Given the description of an element on the screen output the (x, y) to click on. 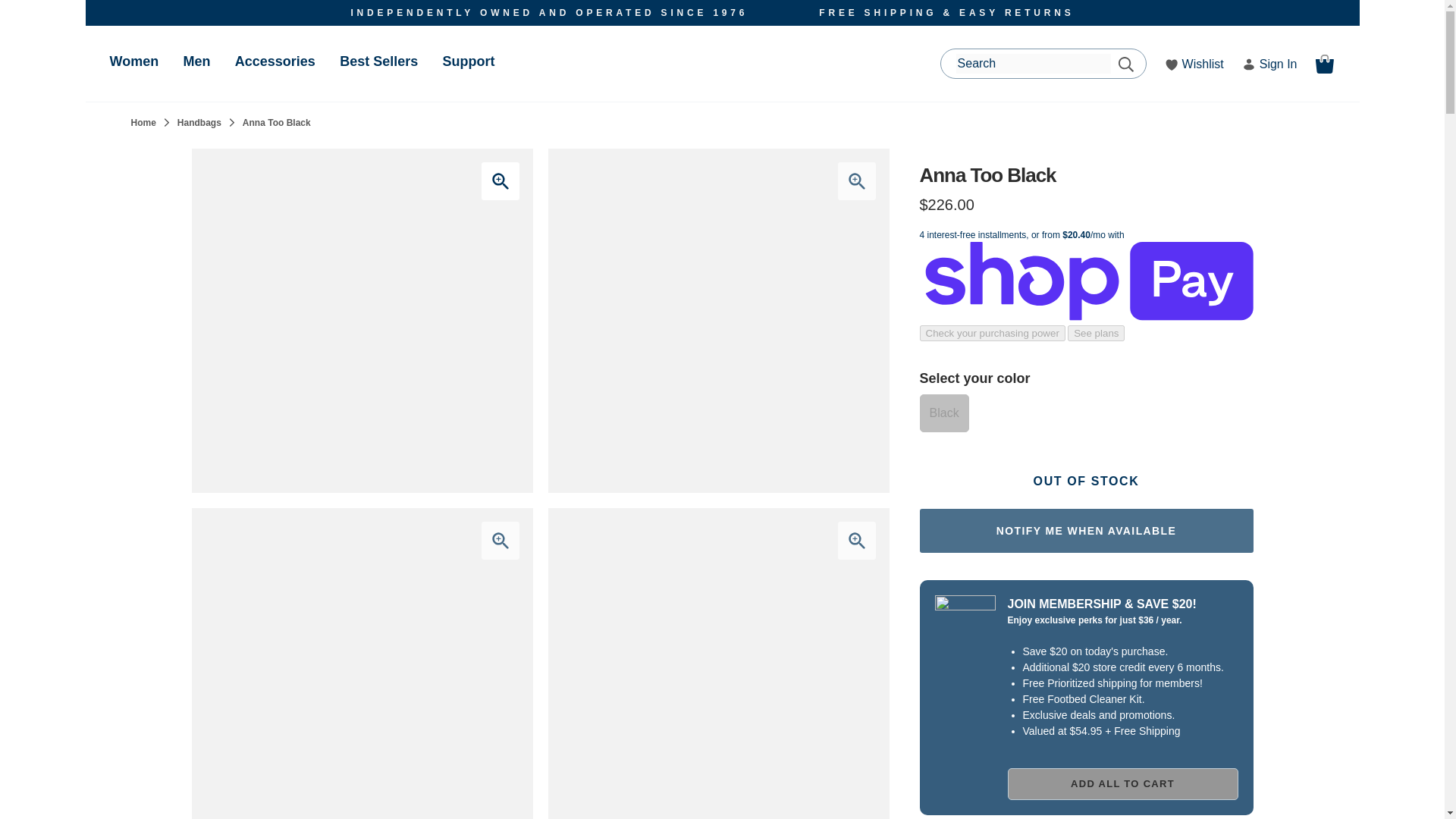
Search (1126, 64)
Women (133, 61)
Men (195, 61)
Accessories (274, 61)
